Given the description of an element on the screen output the (x, y) to click on. 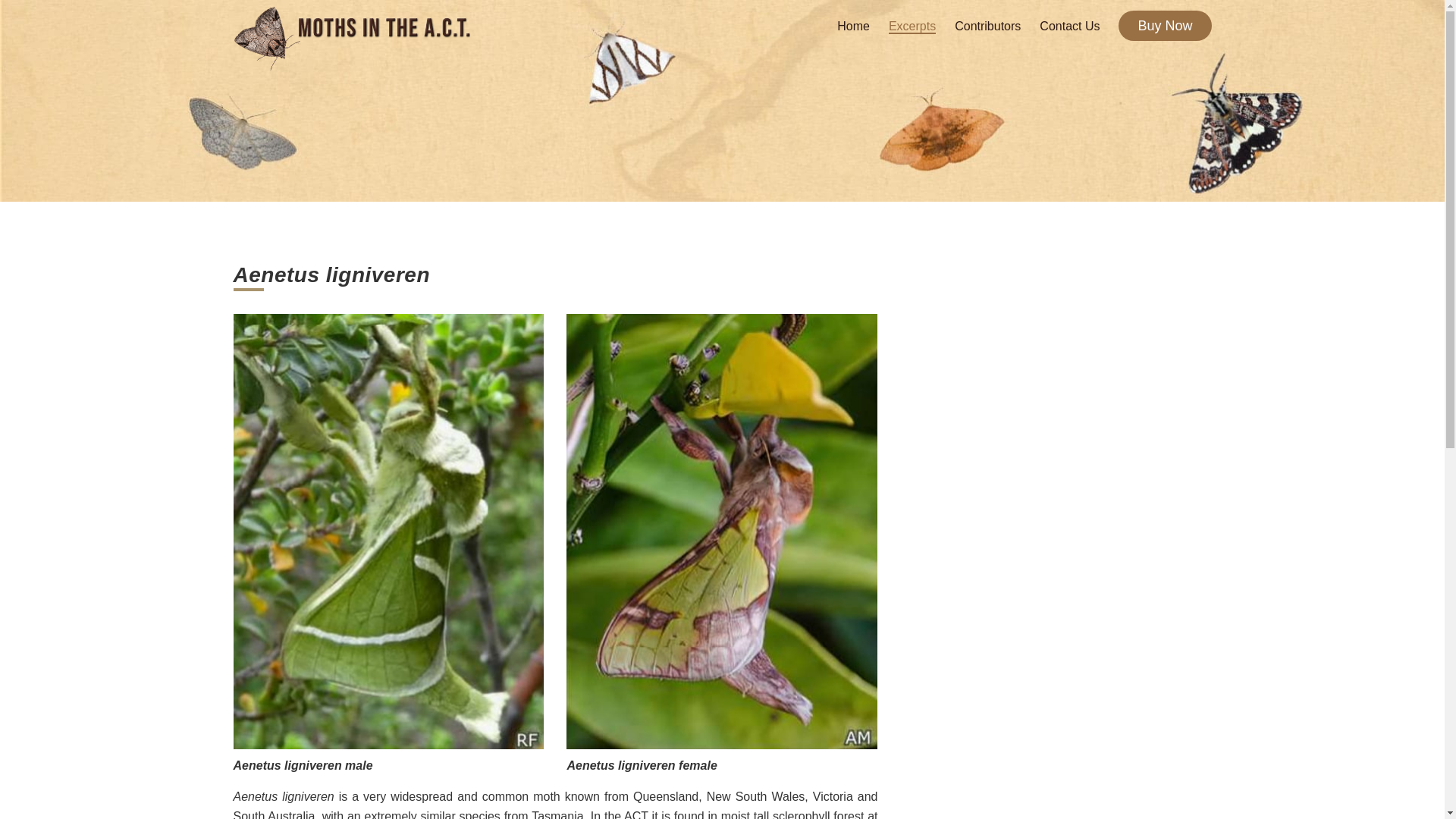
Excerpts (912, 26)
Buy Now (1164, 25)
Contributors (987, 25)
Contact Us (1069, 25)
Home (853, 25)
